Given the description of an element on the screen output the (x, y) to click on. 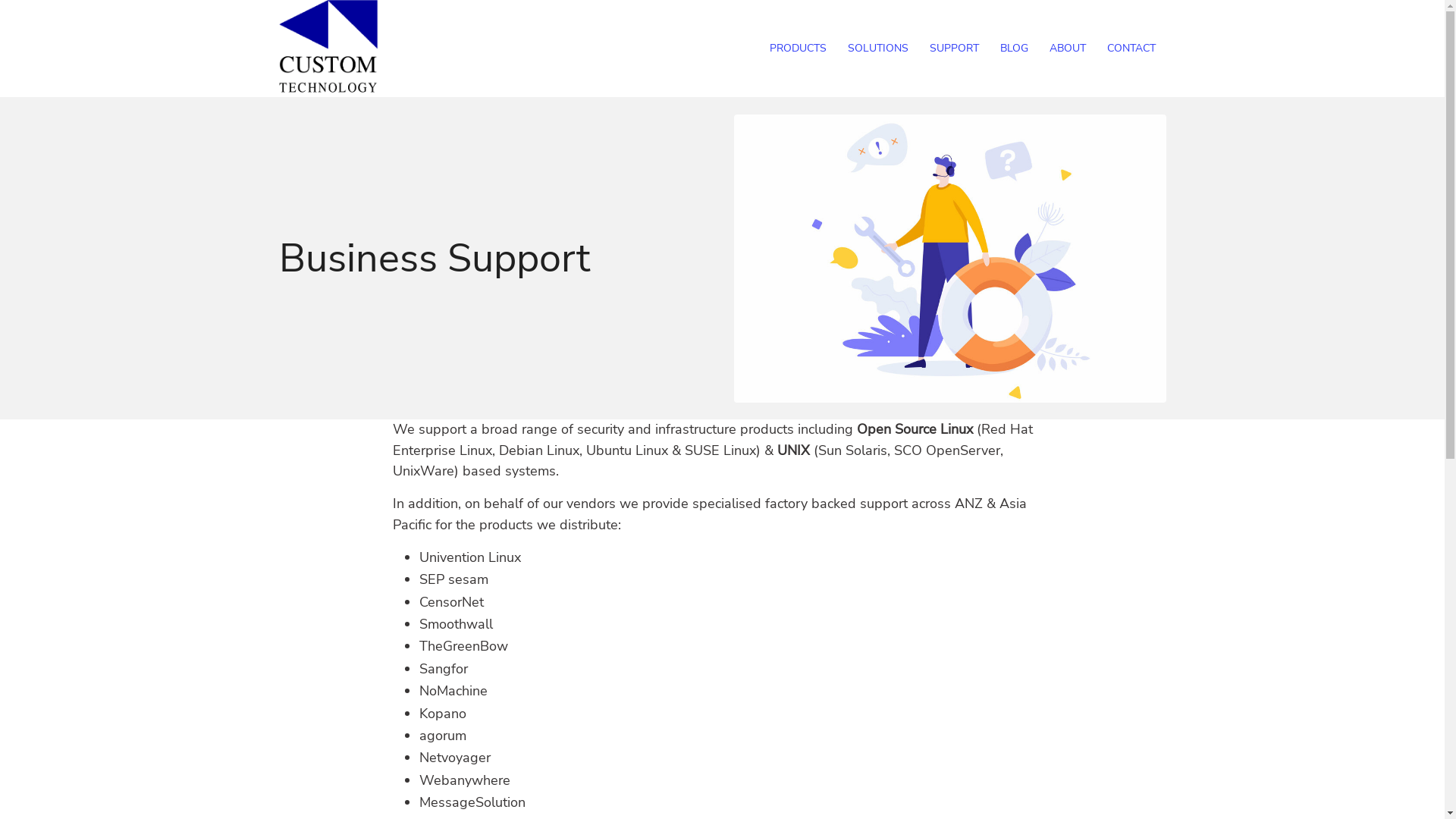
ABOUT Element type: text (1067, 48)
BLOG Element type: text (1013, 48)
CONTACT Element type: text (1131, 48)
SUPPORT Element type: text (954, 48)
PRODUCTS Element type: text (797, 48)
SOLUTIONS Element type: text (878, 48)
